Given the description of an element on the screen output the (x, y) to click on. 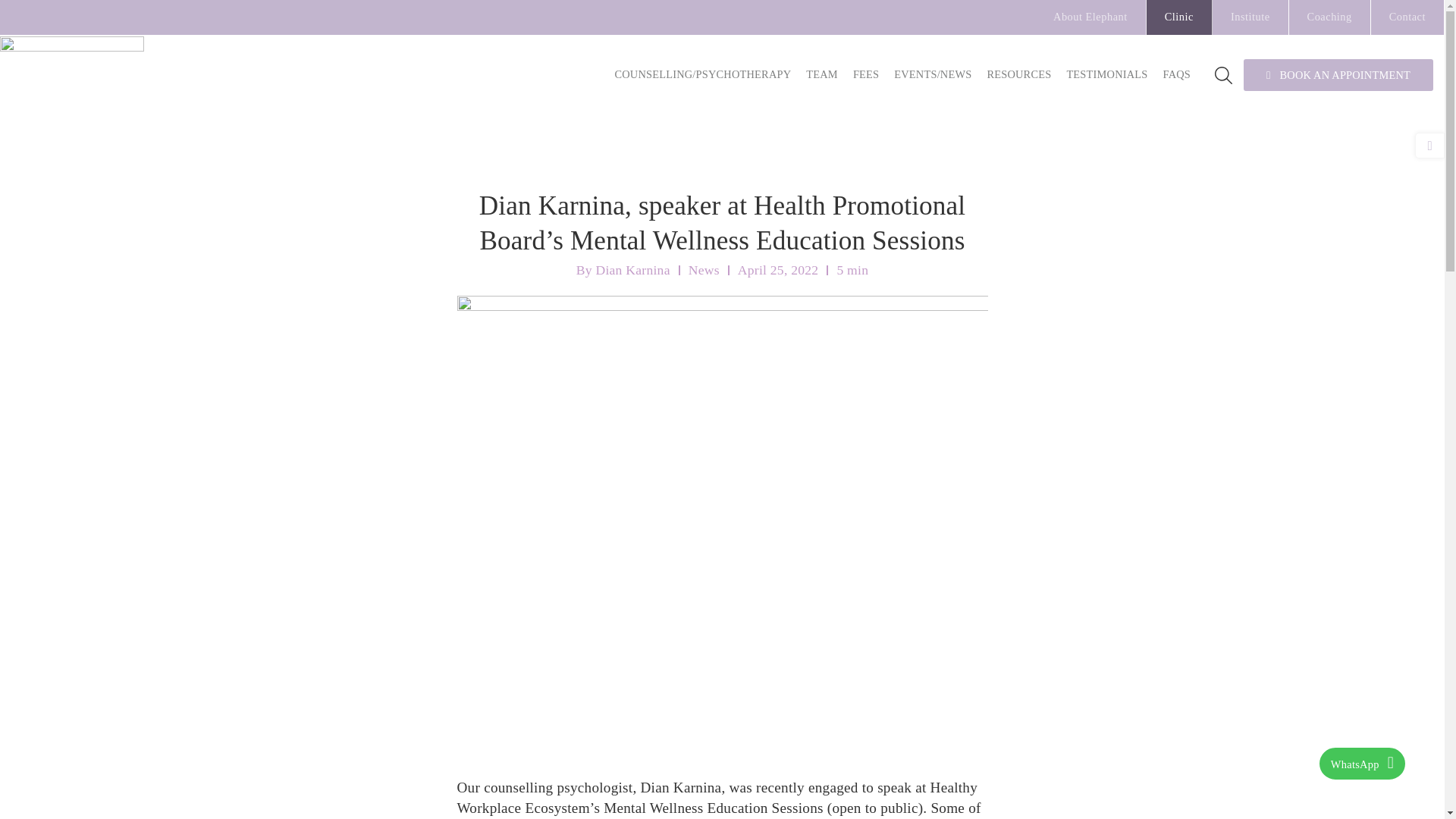
FEES (865, 73)
About Elephant (1091, 17)
Institute (1250, 17)
RESOURCES (1018, 73)
Coaching (1329, 17)
TEAM (821, 73)
Clinic (1179, 17)
